Given the description of an element on the screen output the (x, y) to click on. 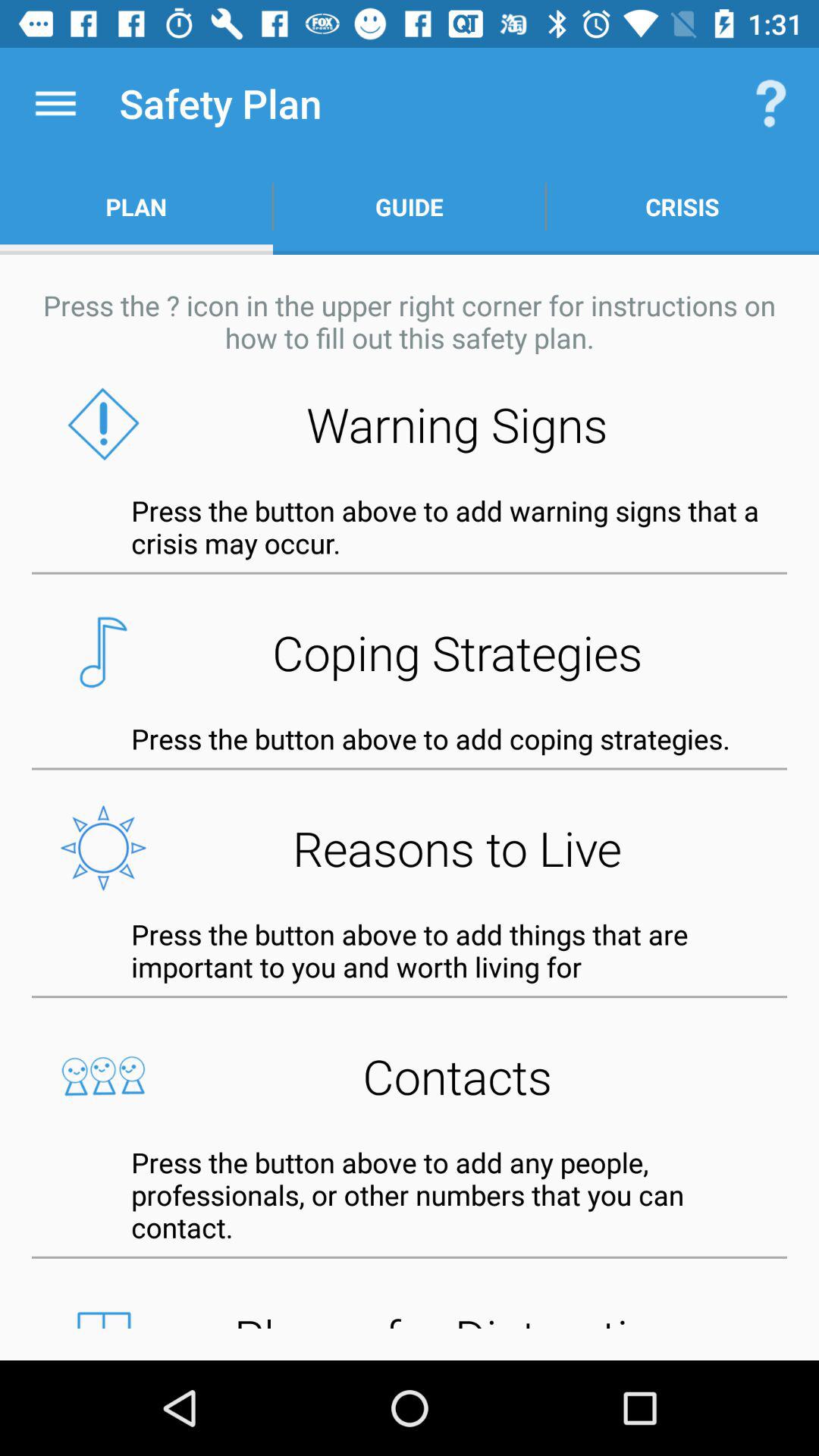
tap places for distraction item (409, 1314)
